Given the description of an element on the screen output the (x, y) to click on. 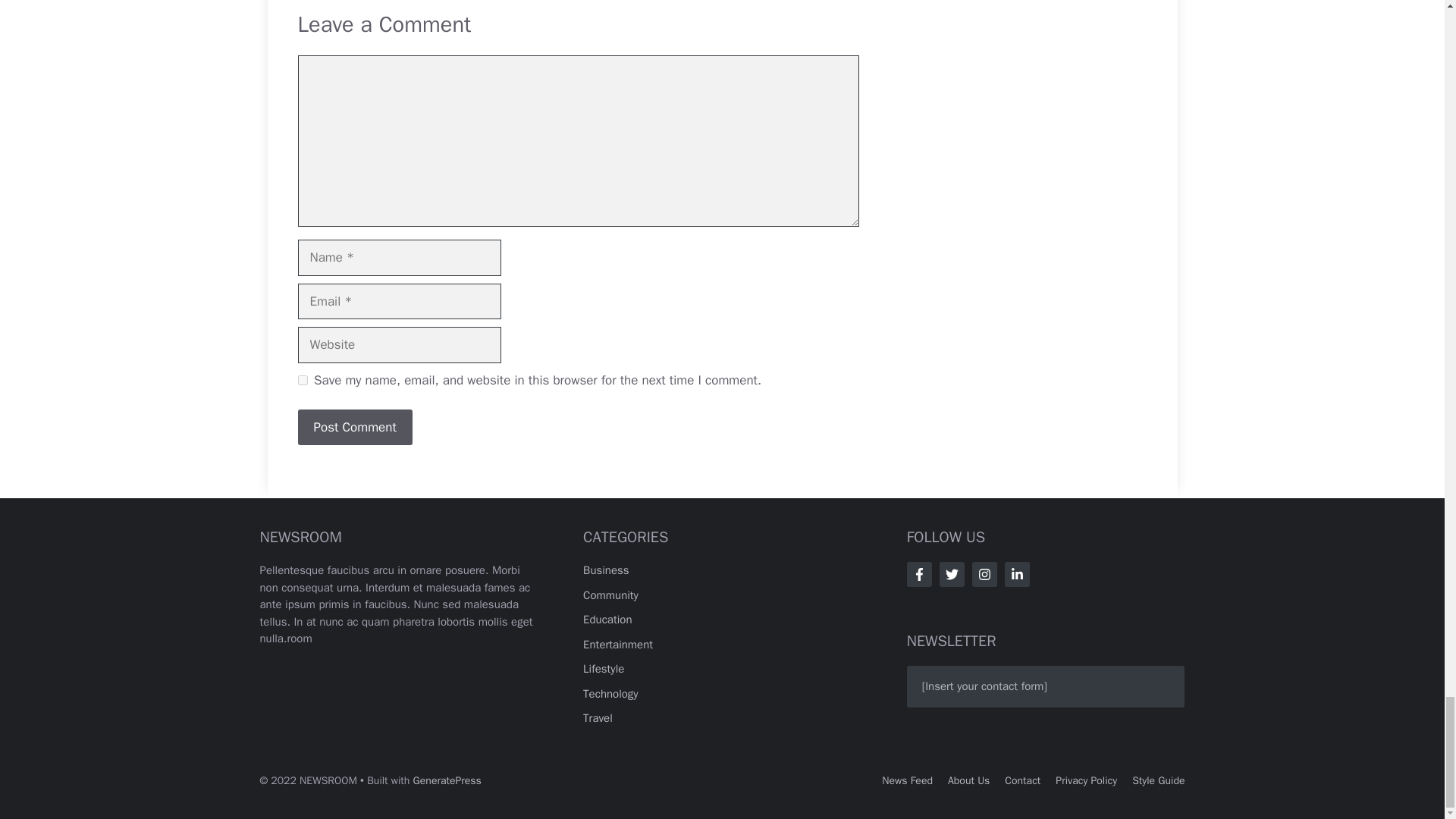
yes (302, 379)
Post Comment (354, 427)
